Given the description of an element on the screen output the (x, y) to click on. 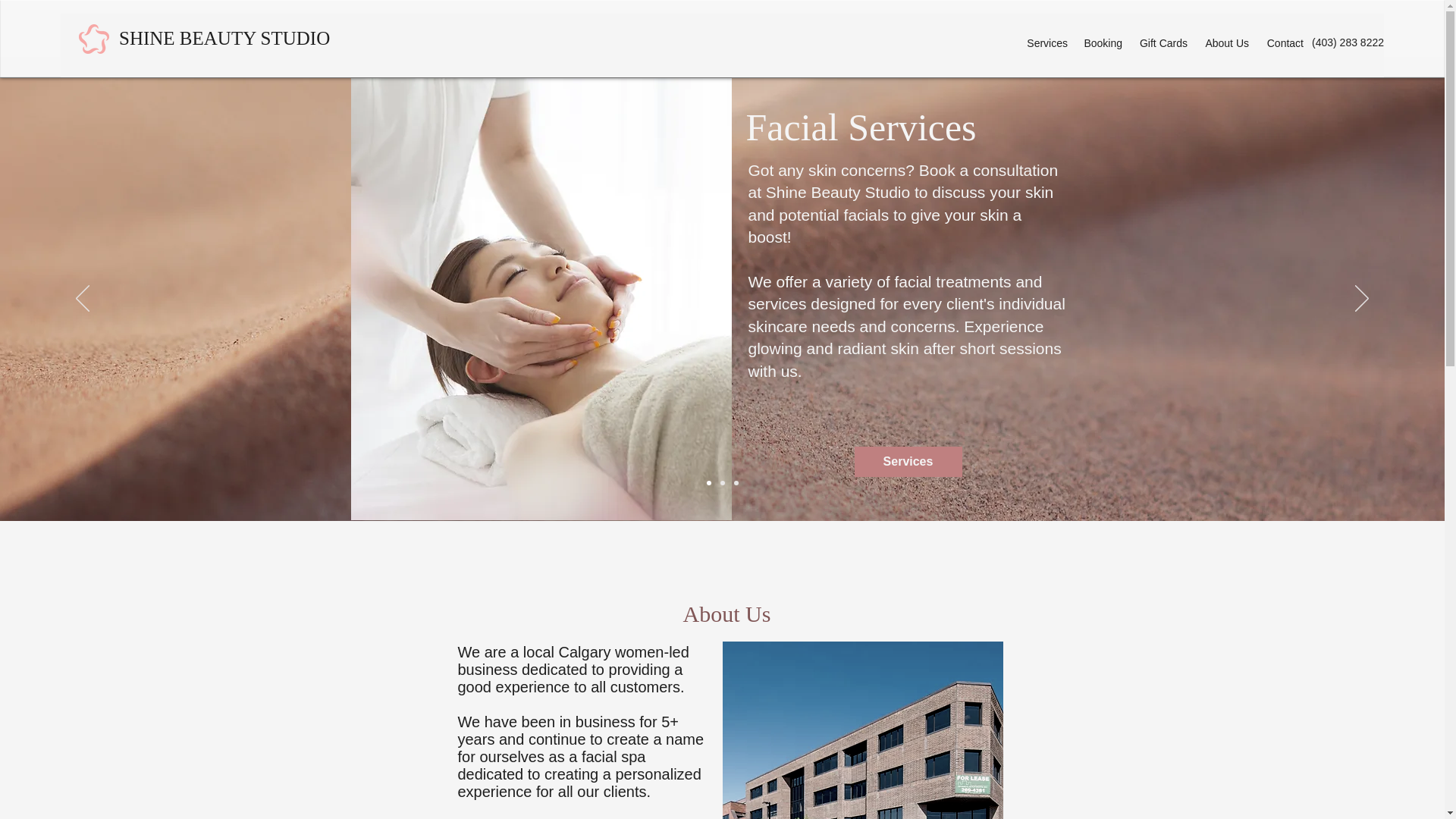
SHINE BEAUTY STUDIO (224, 37)
Gift Cards (1162, 43)
Services (906, 461)
Services (1046, 43)
Contact (1283, 43)
About Us (1225, 43)
Booking (1102, 43)
